Given the description of an element on the screen output the (x, y) to click on. 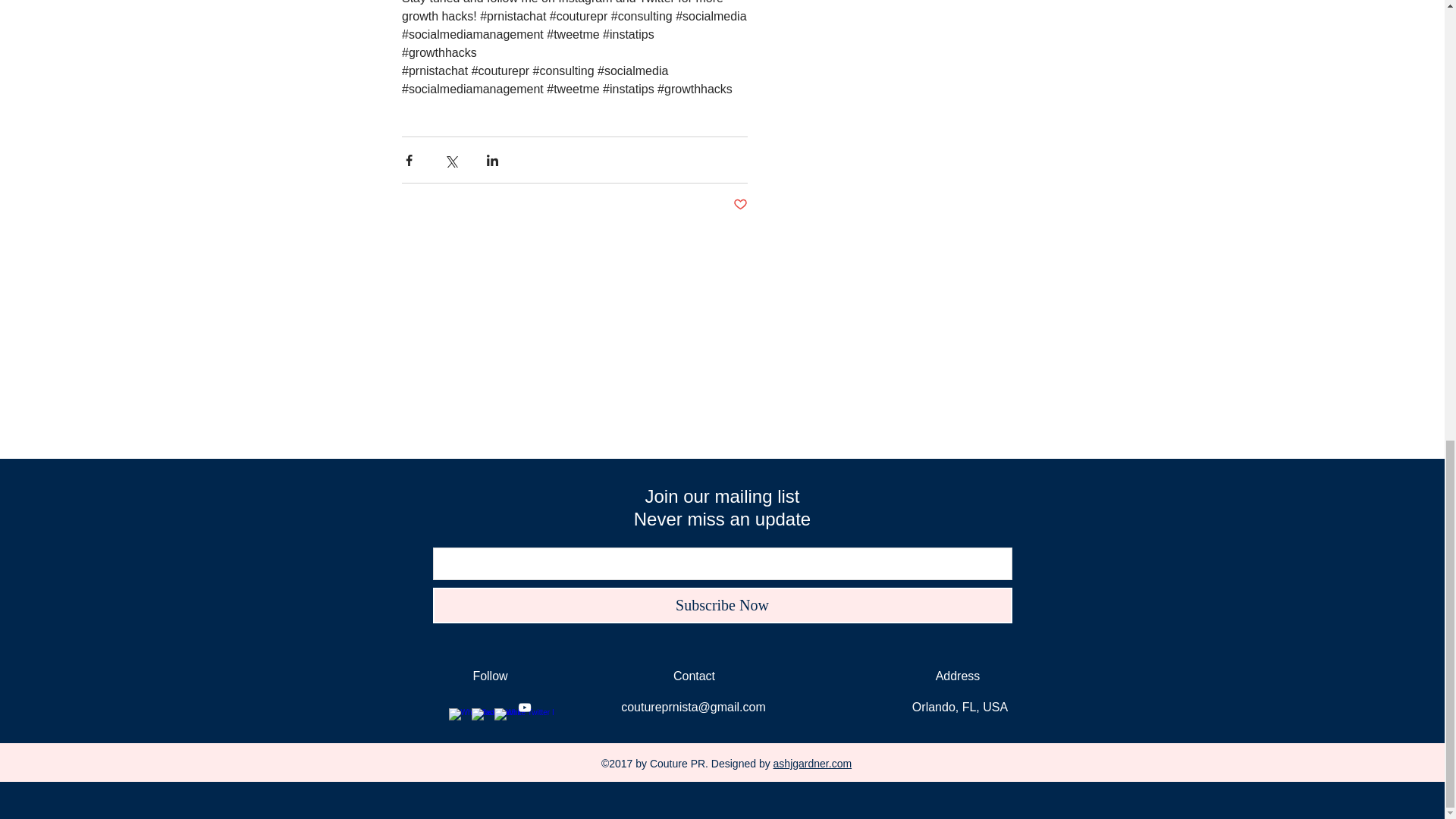
Post not marked as liked (739, 204)
Subscribe Now (721, 605)
